Given the description of an element on the screen output the (x, y) to click on. 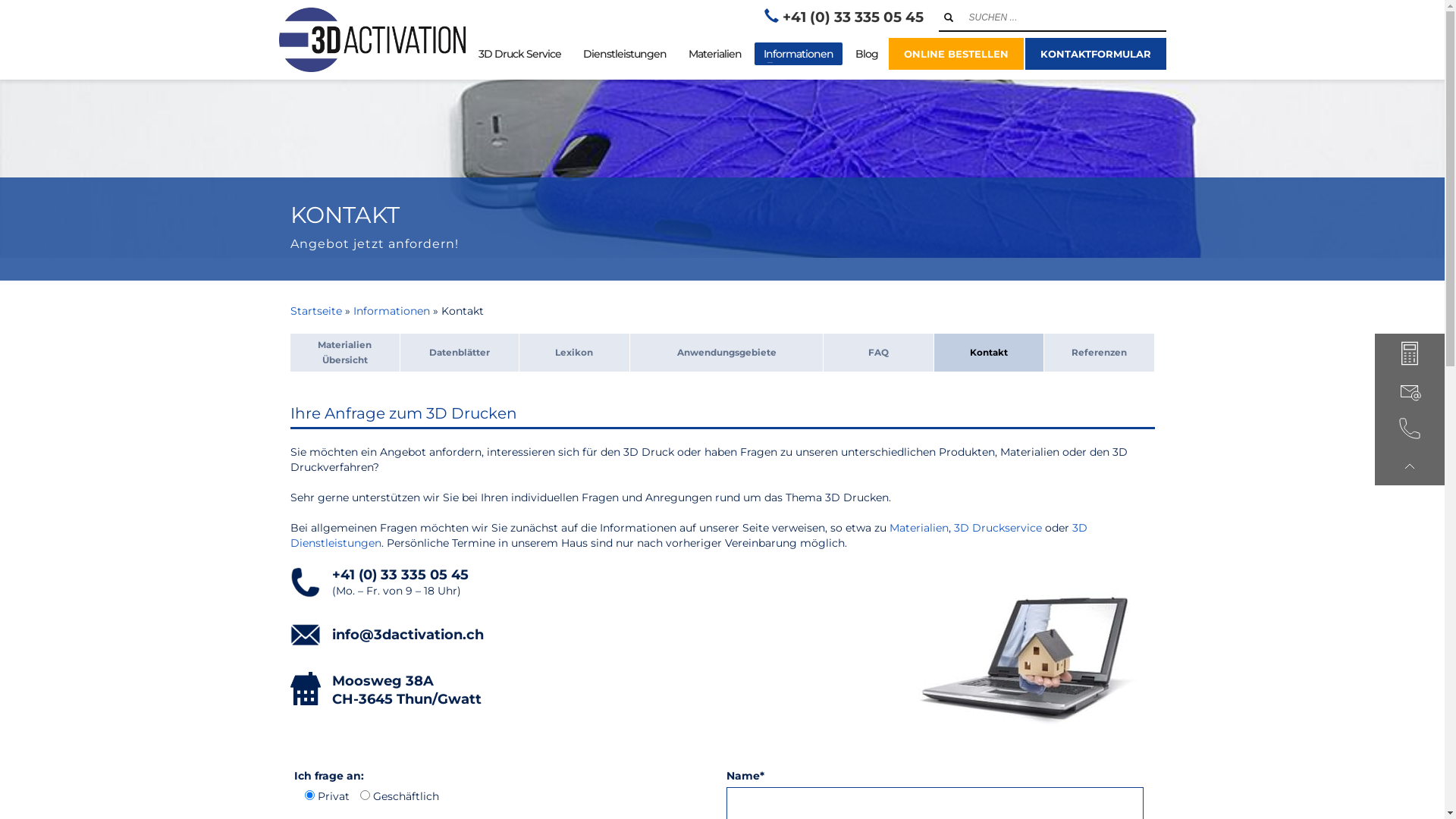
FAQ Element type: text (878, 351)
Startseite Element type: text (315, 310)
Materialien Element type: text (917, 527)
Informationen Element type: text (797, 53)
Blog Element type: text (866, 53)
3D Druckservice Element type: text (997, 527)
Lexikon Element type: text (574, 351)
3D Dienstleistungen Element type: text (687, 534)
Informationen Element type: text (391, 310)
Kontakt Element type: text (988, 351)
Materialien Element type: text (714, 53)
KONTAKTFORMULAR Element type: text (1095, 53)
3D Druck Service Element type: text (518, 53)
info@3dactivation.ch Element type: text (407, 634)
+41 (0) 33 335 05 45 Element type: text (400, 574)
+41 (0) 33 335 05 45 Element type: text (852, 16)
ONLINE BESTELLEN Element type: text (955, 53)
Anwendungsgebiete Element type: text (726, 351)
go Element type: text (947, 17)
Dienstleistungen Element type: text (623, 53)
Referenzen Element type: text (1098, 351)
